Given the description of an element on the screen output the (x, y) to click on. 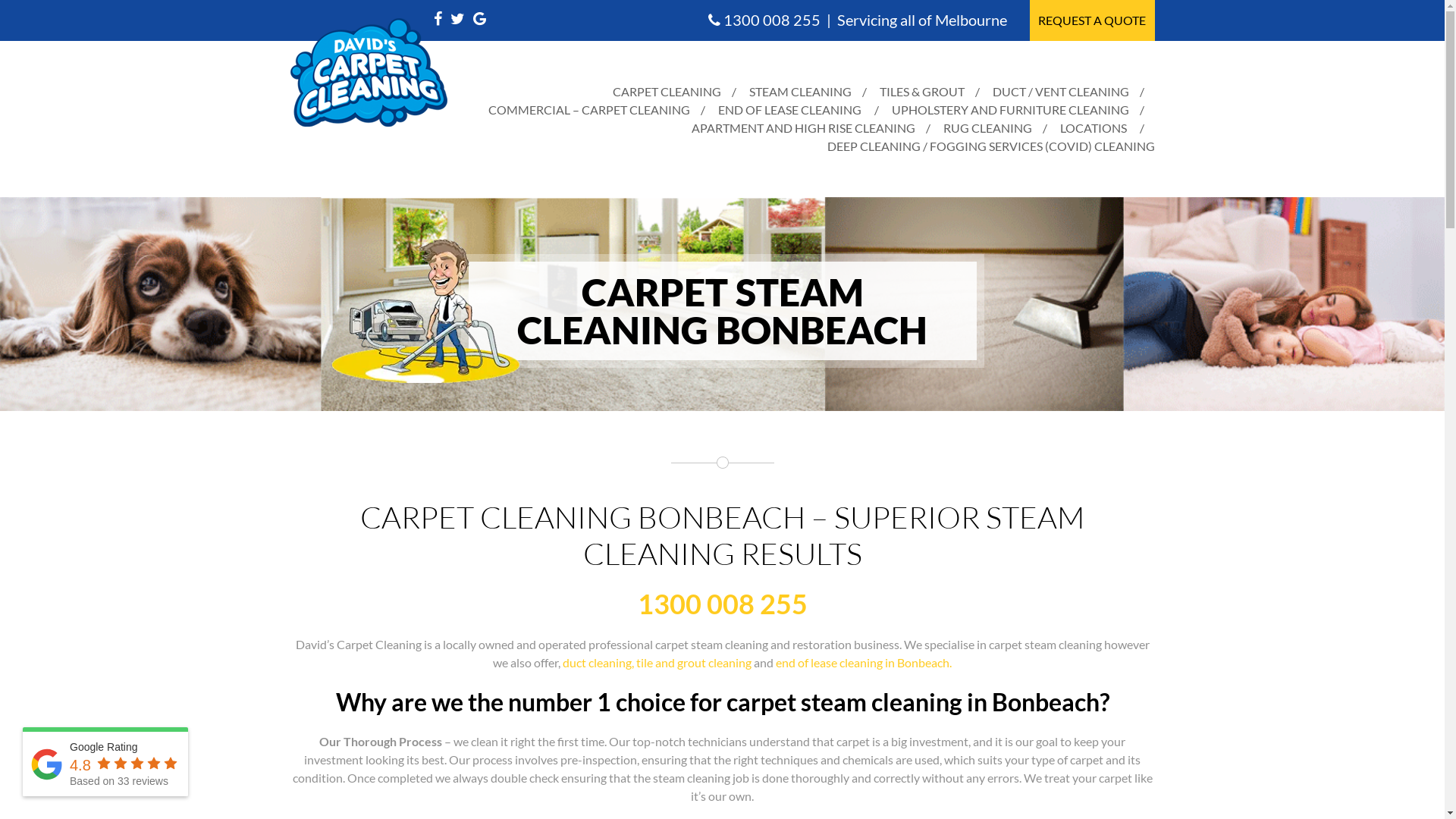
Line Seperator Element type: hover (721, 462)
APARTMENT AND HIGH RISE CLEANING Element type: text (803, 128)
Image Element type: hover (722, 304)
CARPET CLEANING Element type: text (666, 91)
RUG CLEANING Element type: text (987, 128)
UPHOLSTERY AND FURNITURE CLEANING Element type: text (1010, 109)
David Carpet Element type: hover (367, 72)
TILES & GROUT Element type: text (921, 91)
DUCT / VENT CLEANING Element type: text (1059, 91)
Image Element type: hover (425, 310)
END OF LEASE CLEANING Element type: text (788, 109)
LOCATIONS Element type: text (1093, 128)
REQUEST A QUOTE Element type: text (1091, 20)
1300 008 255 Element type: text (721, 603)
DEEP CLEANING / FOGGING SERVICES (COVID) CLEANING Element type: text (990, 146)
tile and grout cleaning Element type: text (693, 662)
STEAM CLEANING Element type: text (800, 91)
end of lease cleaning in Bonbeach. Element type: text (863, 662)
1300 008 255 Element type: text (771, 19)
duct cleaning, Element type: text (599, 662)
